Given the description of an element on the screen output the (x, y) to click on. 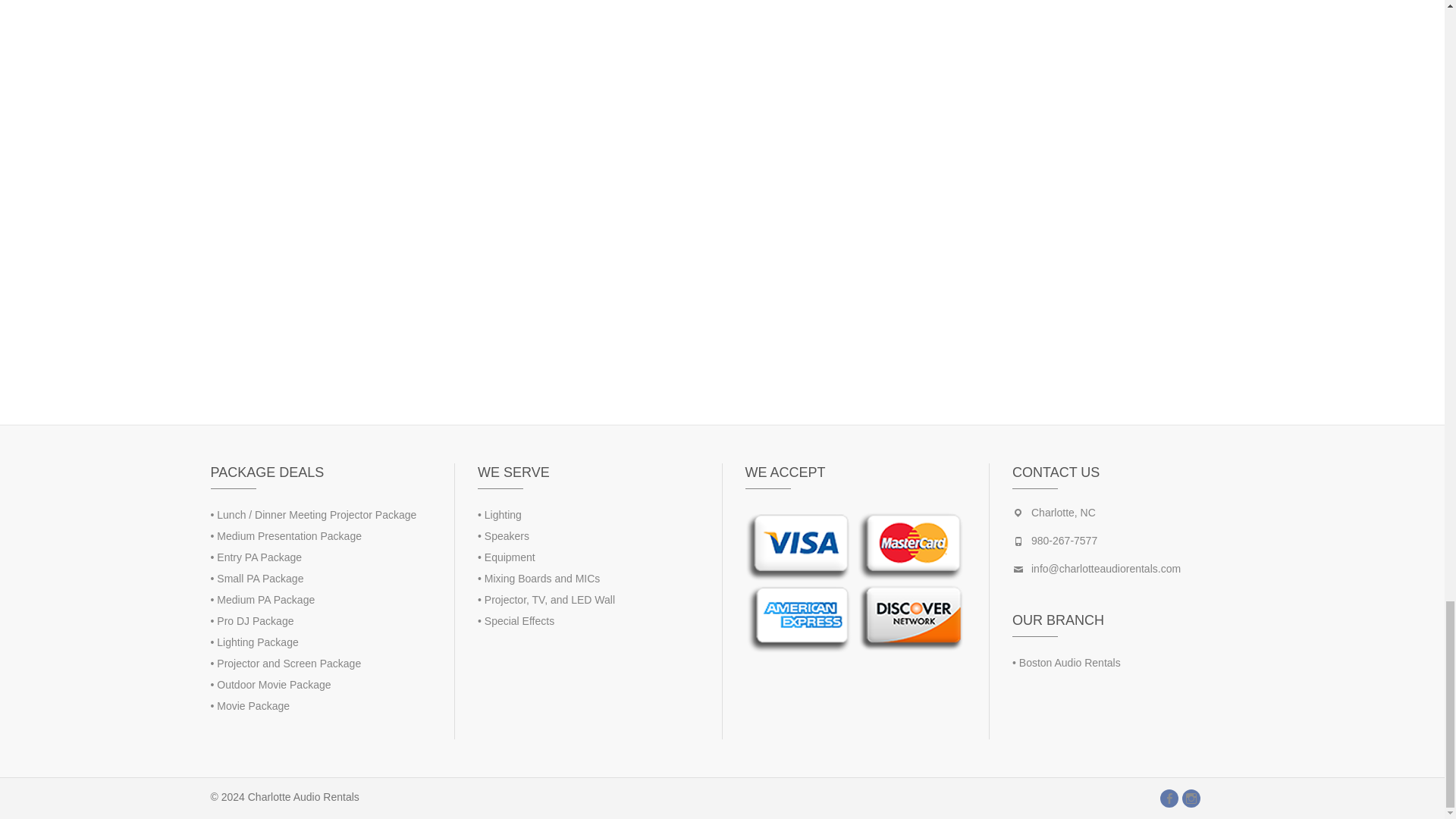
Medium Presentation Package (288, 535)
980-267-7577 (1063, 540)
Medium PA Package (265, 599)
Movie Package (252, 705)
Small PA Package (259, 578)
Lighting (502, 514)
Charlotte Audio Rentals (303, 797)
Pro DJ Package (255, 621)
Outdoor Movie Package (273, 684)
Charlotte, NC (1063, 512)
